Given the description of an element on the screen output the (x, y) to click on. 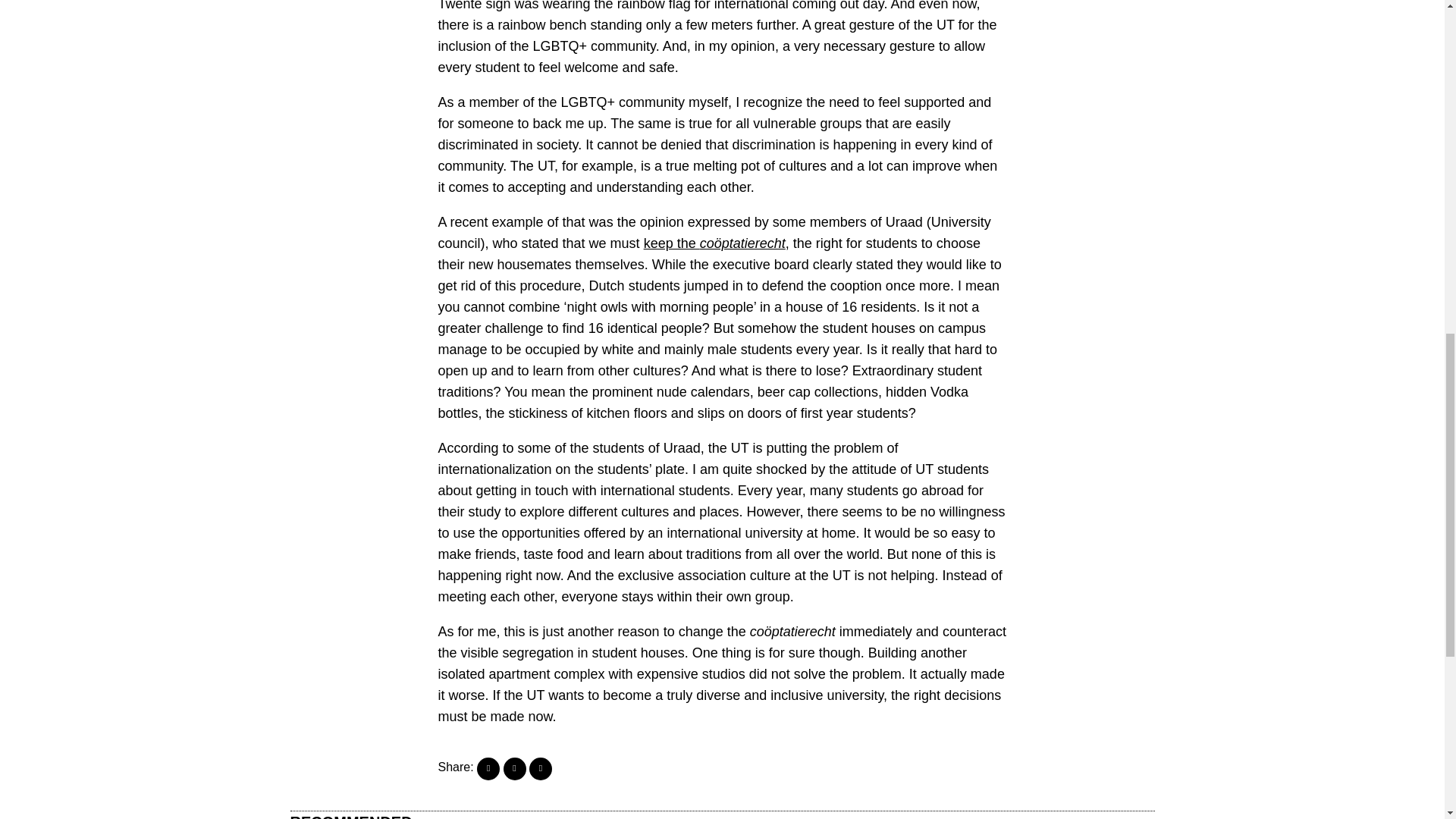
Share on Facebook (488, 768)
Share on Twitter (514, 768)
Share on LinkedIn (540, 768)
